Given the description of an element on the screen output the (x, y) to click on. 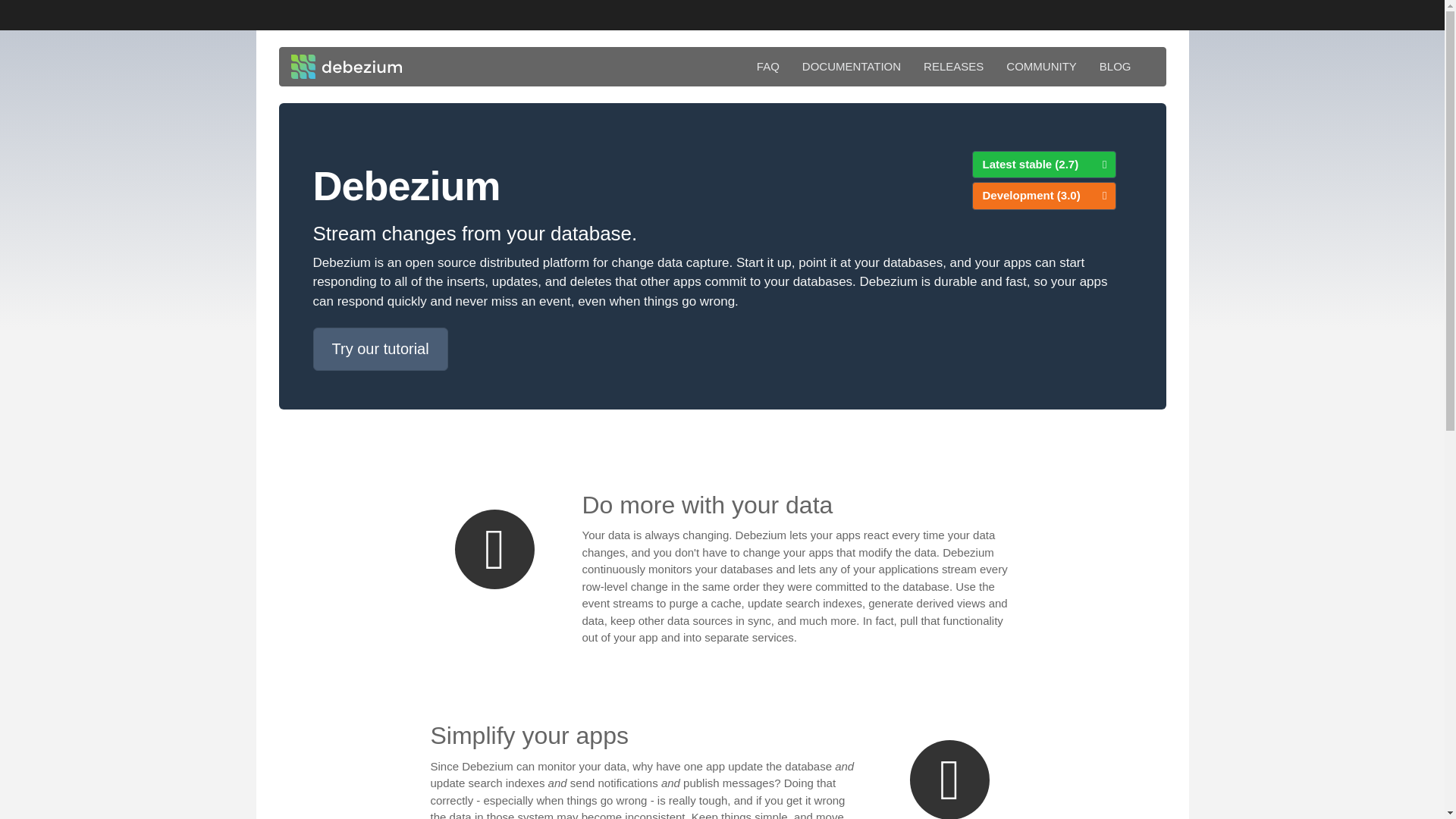
RELEASES (953, 66)
BLOG (1114, 66)
DOCUMENTATION (851, 66)
COMMUNITY (1040, 66)
FAQ (767, 66)
Try our tutorial (379, 349)
